Given the description of an element on the screen output the (x, y) to click on. 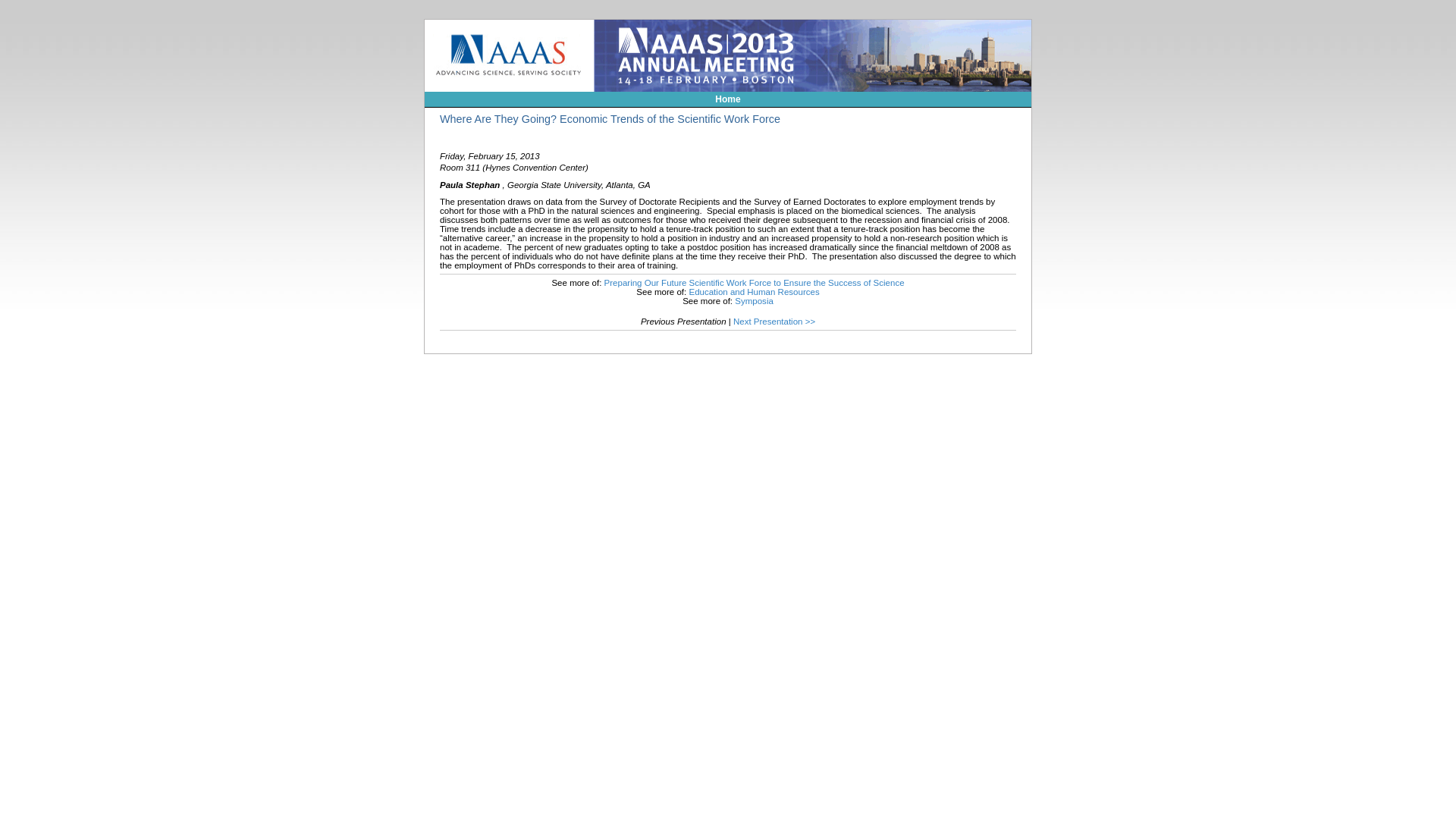
Education and Human Resources (753, 291)
Symposia (754, 300)
Home (726, 99)
